Given the description of an element on the screen output the (x, y) to click on. 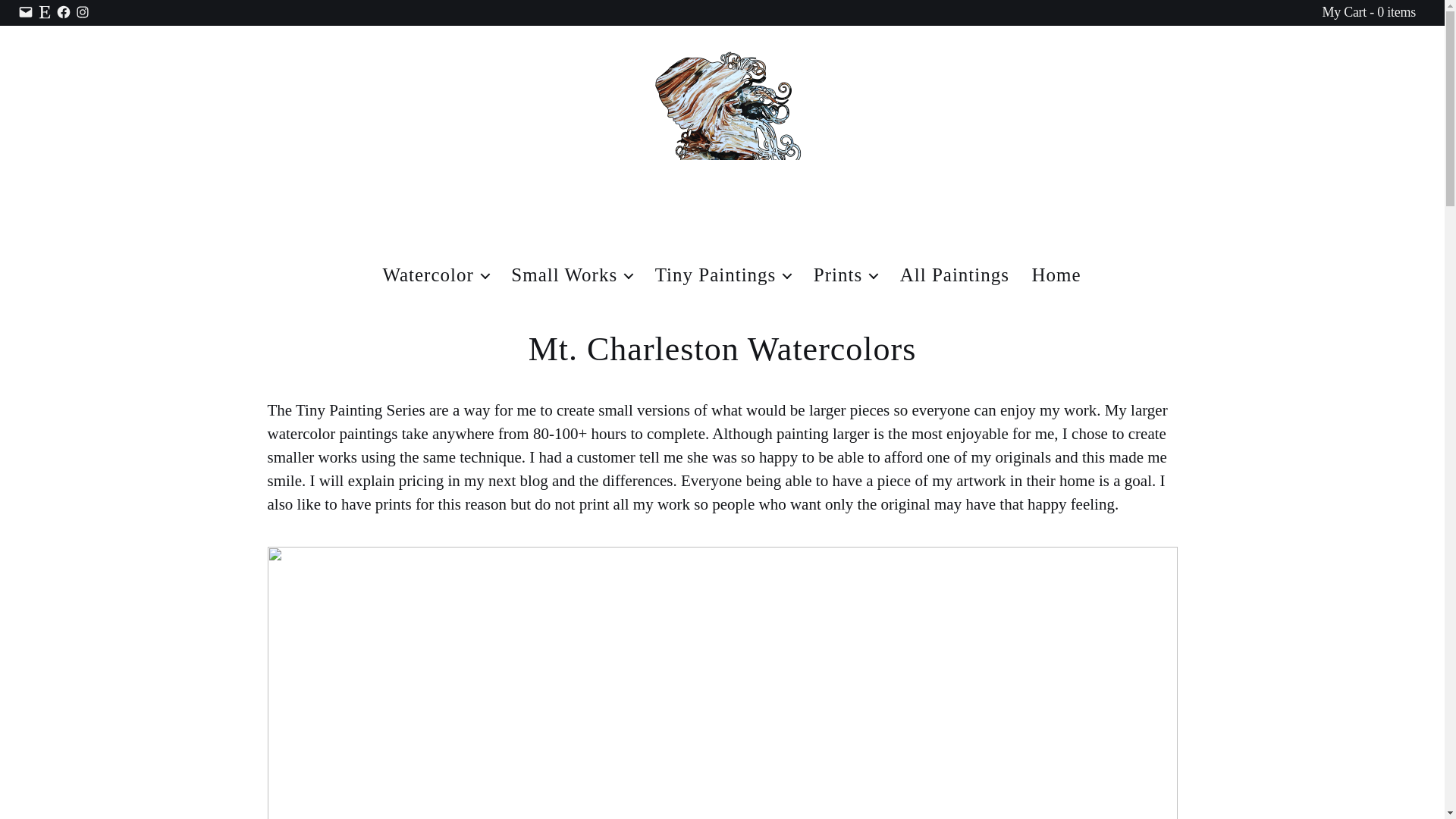
My Cart (1368, 12)
All Paintings (954, 274)
Tiny Paintings (723, 274)
Small Works (571, 274)
Watercolor (434, 274)
Instagram (82, 11)
Etsy (44, 11)
Karen Hilliard Art (1055, 274)
Watercolor Paintings (434, 274)
Home (1055, 274)
Acrylic Paintings (571, 274)
Small Works (723, 274)
Contact Karen Hilliard Art (25, 11)
Contact (25, 11)
Prints (845, 274)
